Given the description of an element on the screen output the (x, y) to click on. 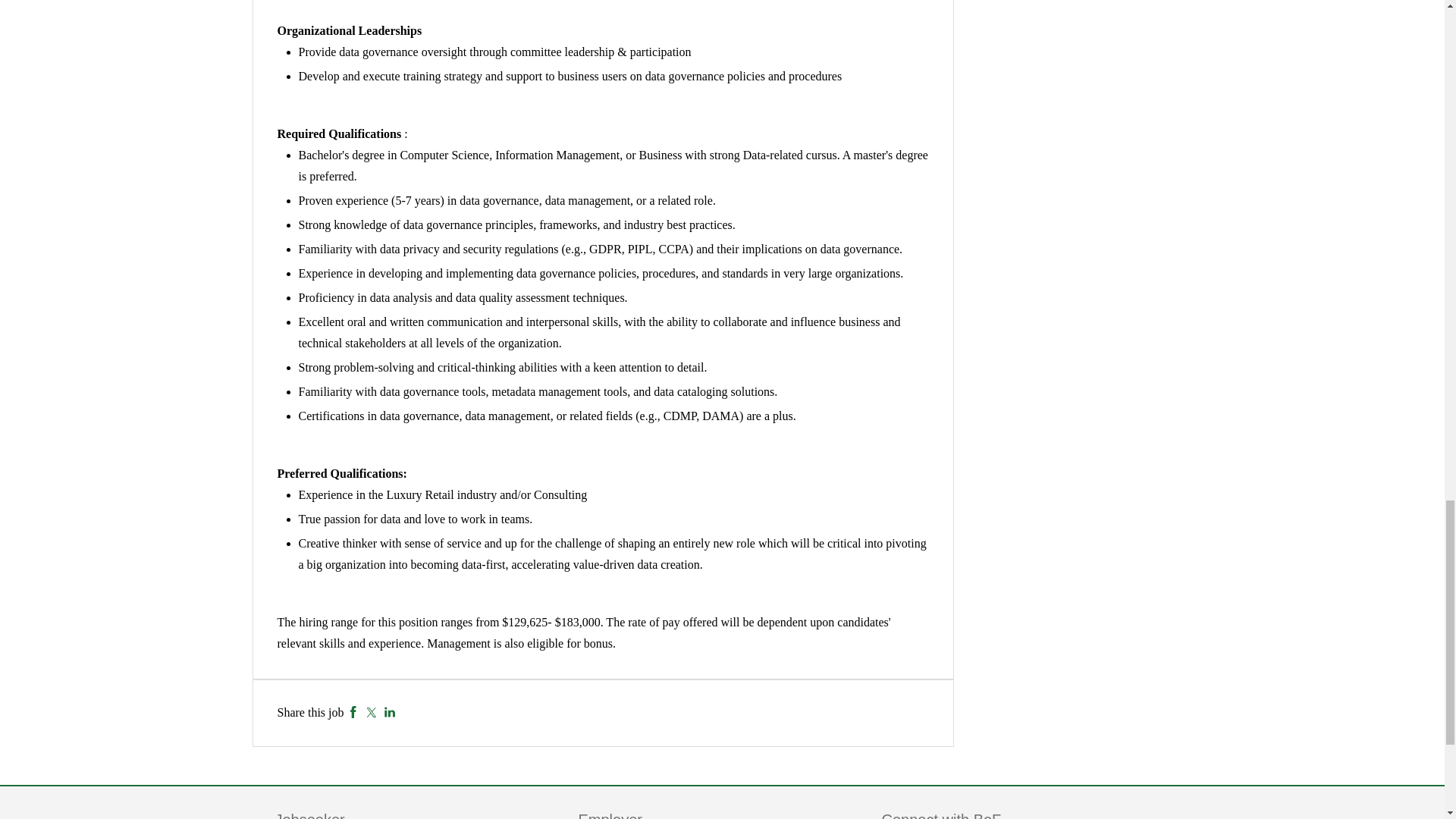
LinkedIn (390, 712)
Facebook (353, 712)
Twitter (371, 712)
